Given the description of an element on the screen output the (x, y) to click on. 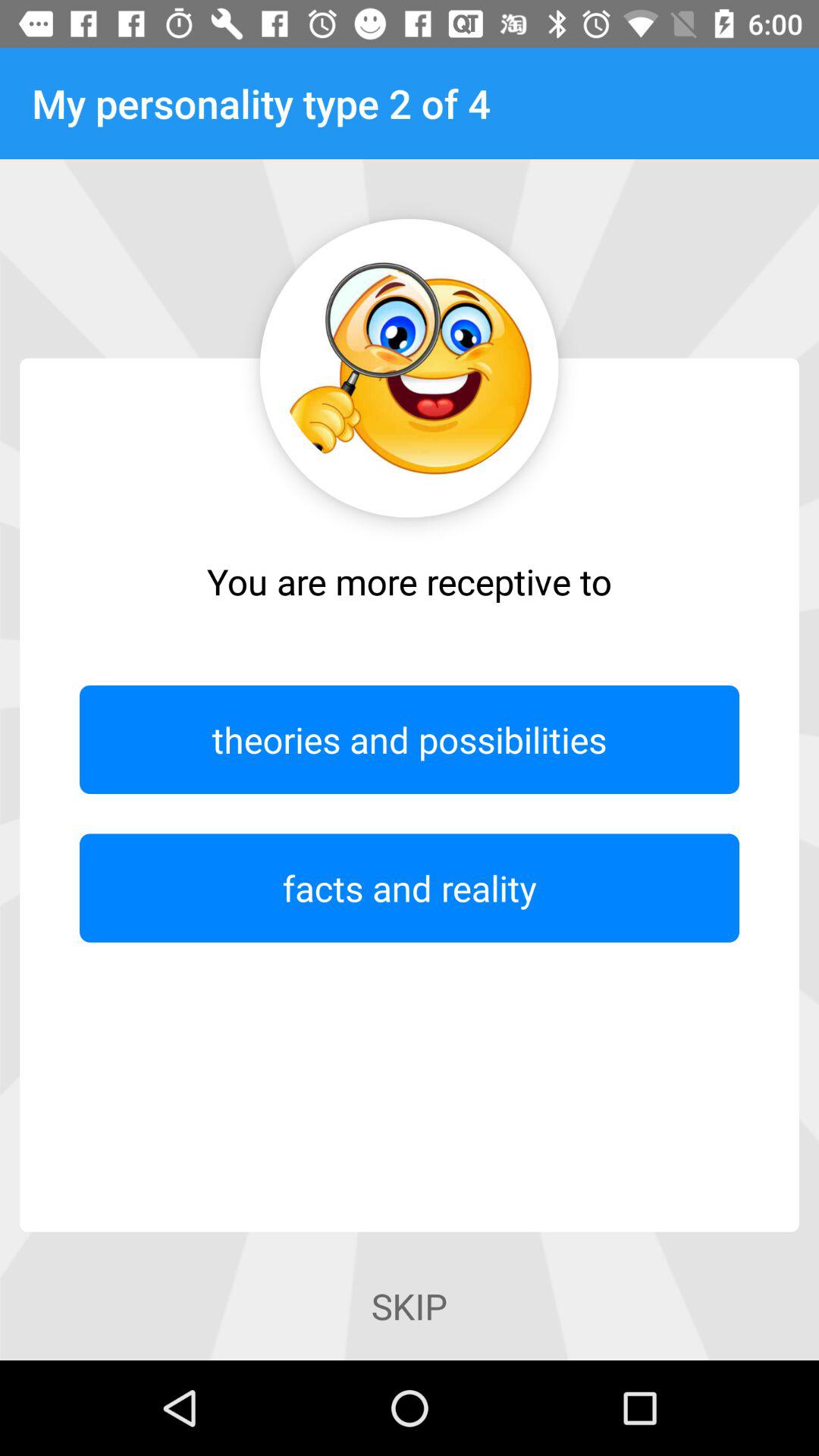
turn off the facts and reality (409, 887)
